Given the description of an element on the screen output the (x, y) to click on. 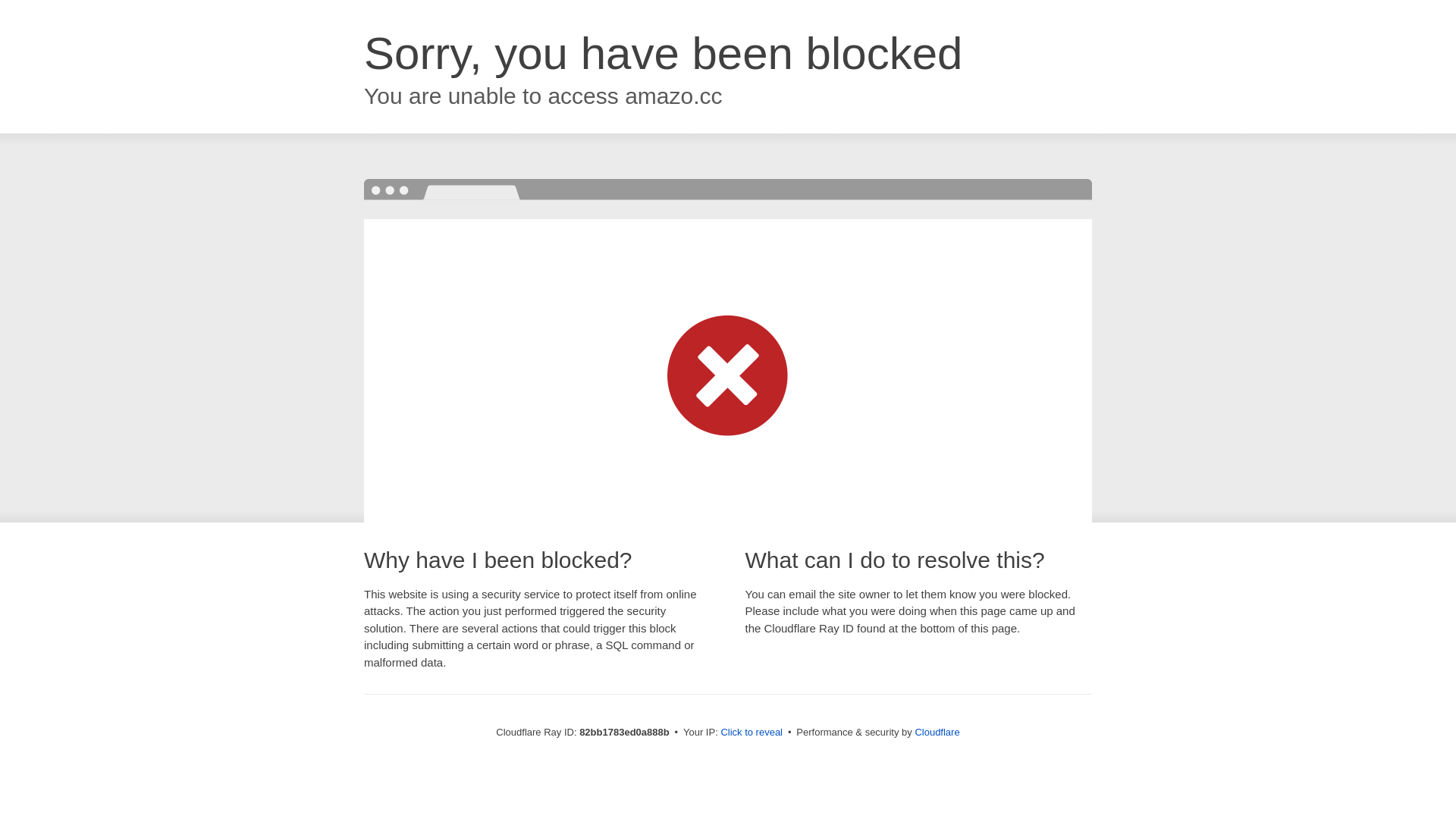
Click to reveal Element type: text (751, 732)
Cloudflare Element type: text (936, 731)
